Given the description of an element on the screen output the (x, y) to click on. 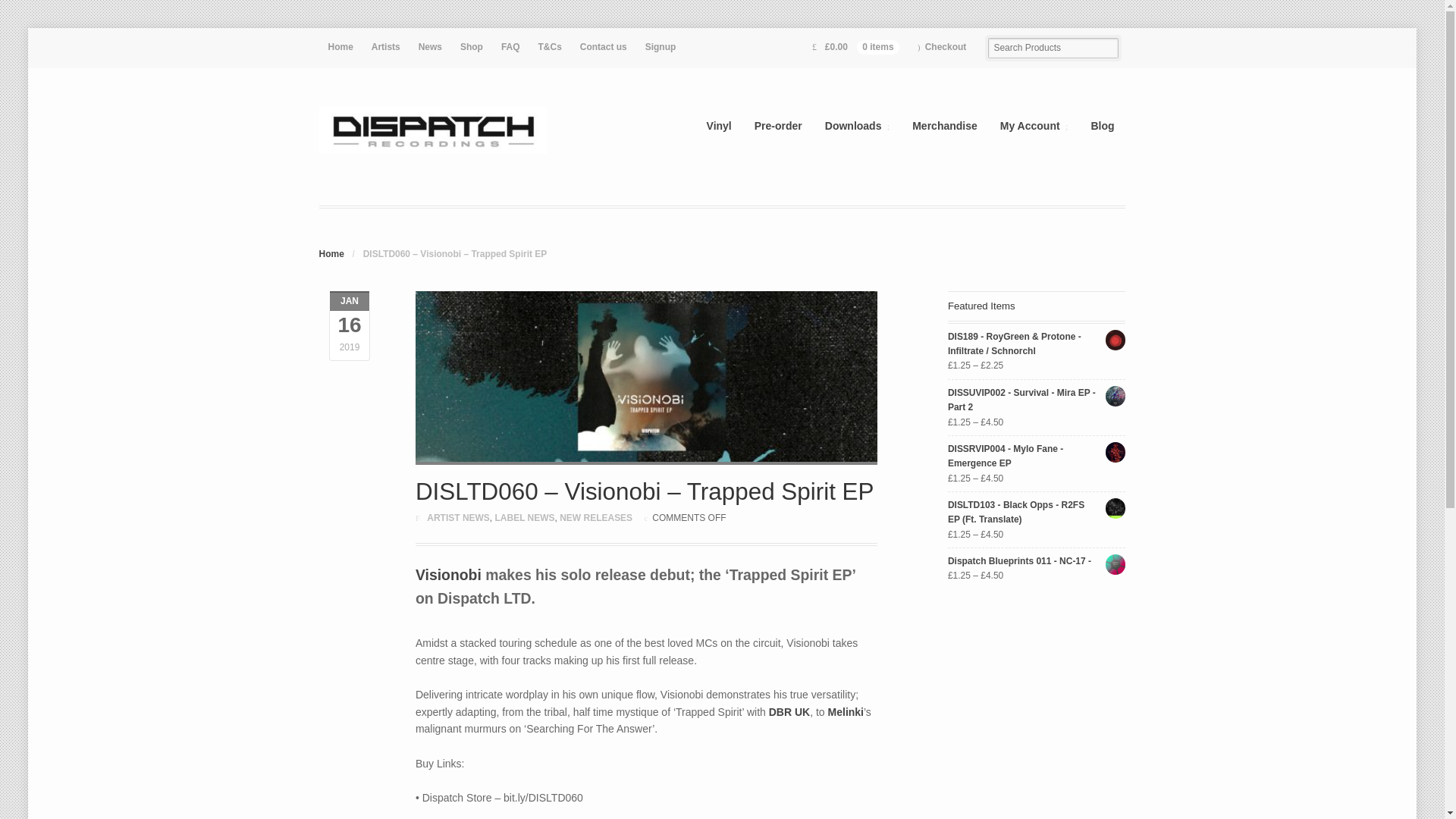
LABEL NEWS (524, 517)
Melinki (845, 711)
Vinyl (718, 125)
Shop (471, 47)
Blog (1101, 125)
DBR UK (788, 711)
Contact us (603, 47)
Merchandise (944, 125)
Signup (660, 47)
Checkout (941, 47)
Artists (385, 47)
Downloads (857, 125)
Visionobi (447, 574)
News (430, 47)
FAQ (510, 47)
